Given the description of an element on the screen output the (x, y) to click on. 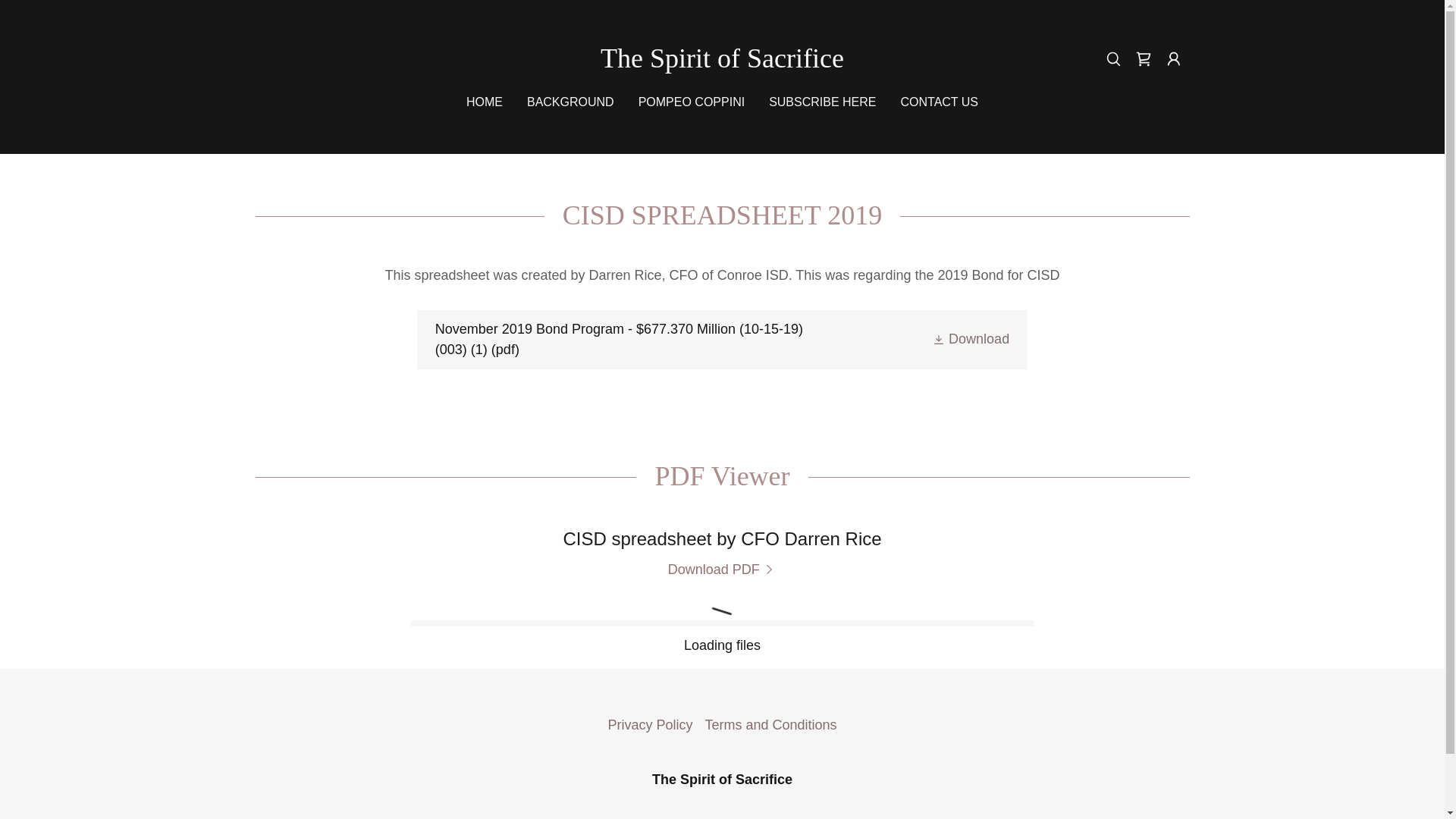
POMPEO COPPINI (691, 102)
CONTACT US (940, 102)
Terms and Conditions (770, 725)
HOME (483, 102)
The Spirit of Sacrifice (721, 62)
SUBSCRIBE HERE (822, 102)
BACKGROUND (570, 102)
Privacy Policy (649, 725)
The Spirit of Sacrifice (721, 62)
Download PDF (722, 569)
